Given the description of an element on the screen output the (x, y) to click on. 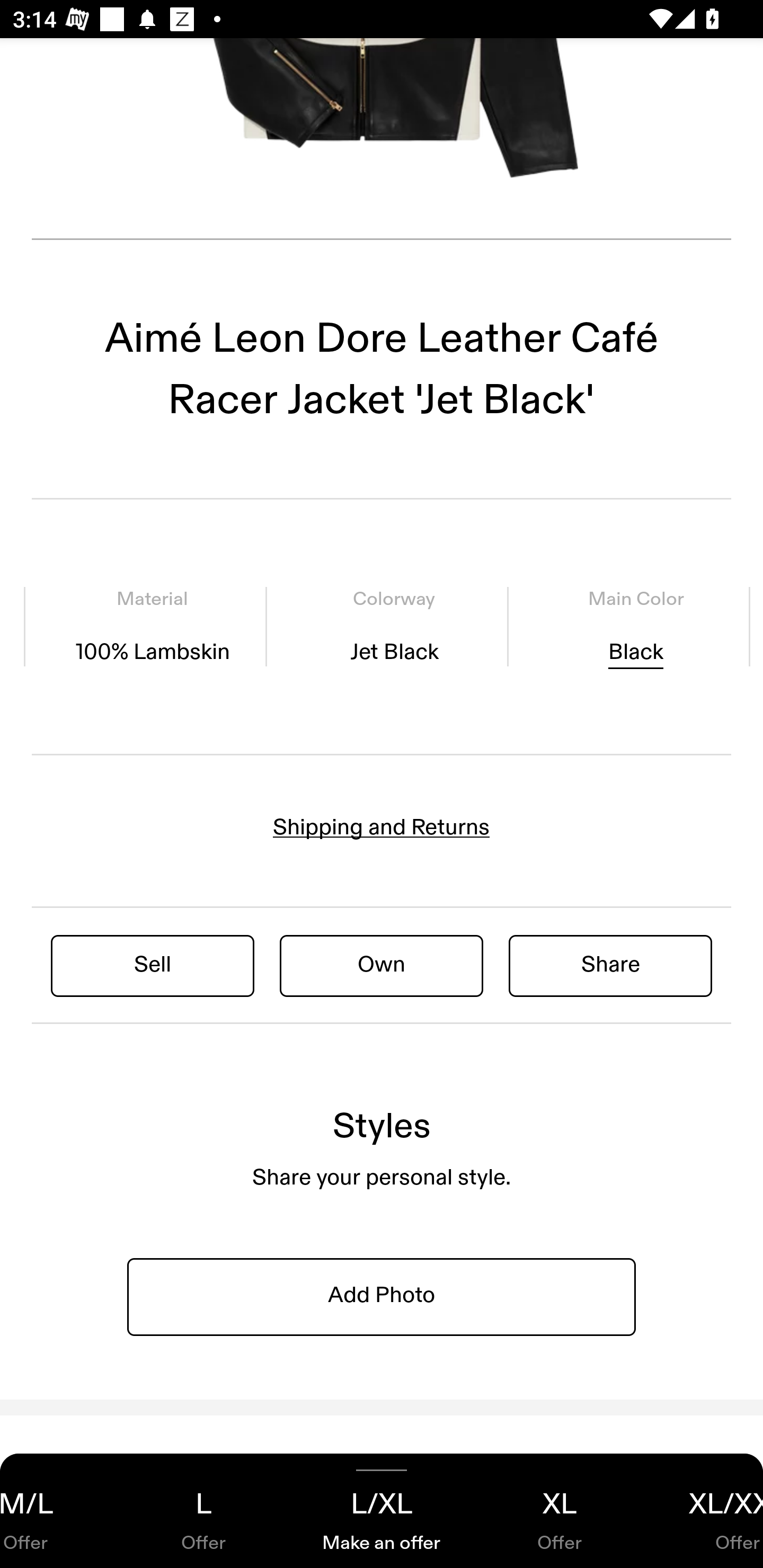
Material 100% Lambskin (152, 626)
Colorway Jet Black (394, 626)
Main Color Black (635, 626)
Shipping and Returns (381, 827)
Sell (152, 964)
Own (381, 964)
Share (609, 964)
Add Photo (381, 1295)
M/L Offer (57, 1510)
L Offer (203, 1510)
L/XL Make an offer (381, 1510)
XL Offer (559, 1510)
XL/XXL Offer (705, 1510)
